Given the description of an element on the screen output the (x, y) to click on. 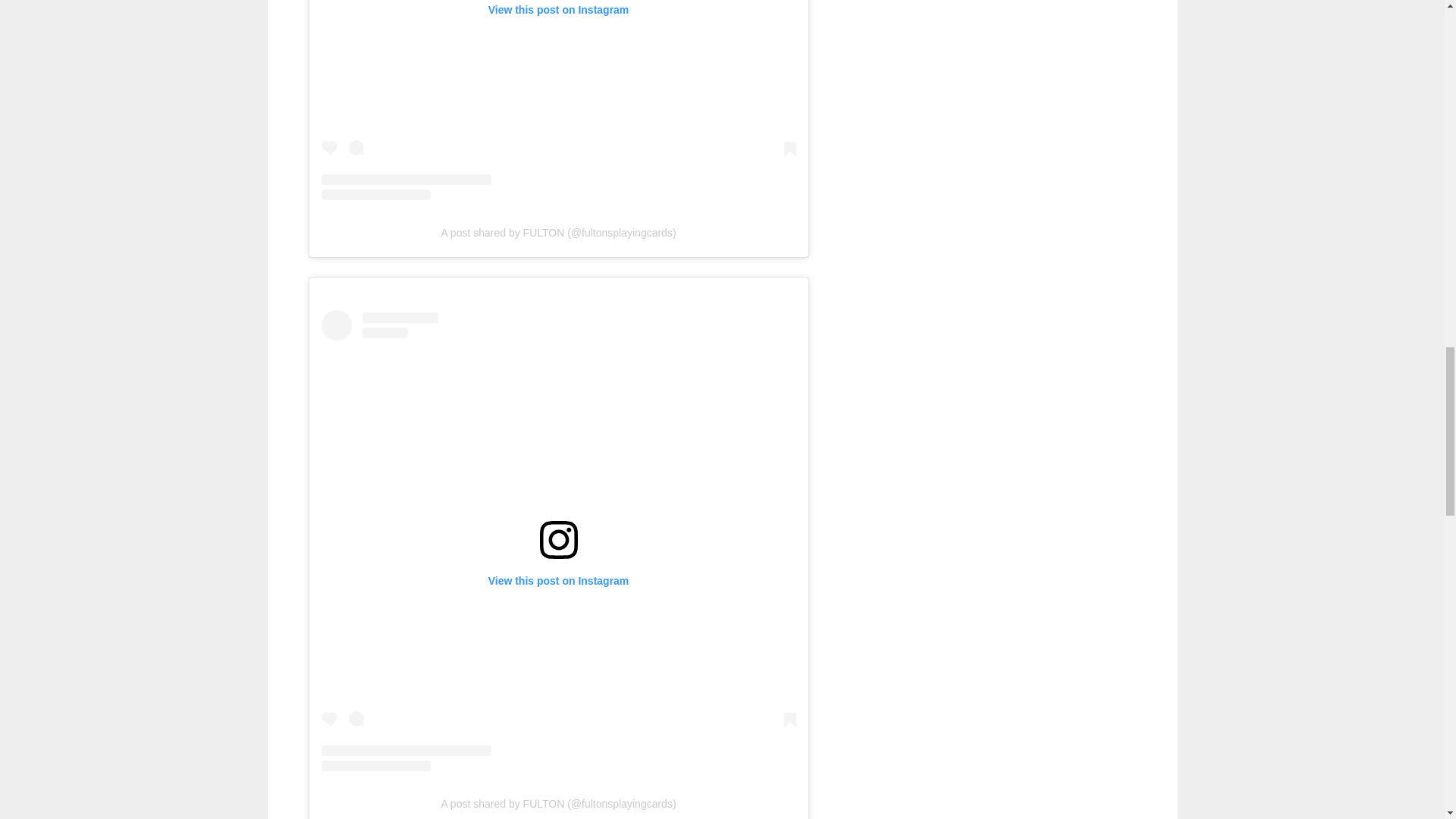
View this post on Instagram (558, 99)
